Given the description of an element on the screen output the (x, y) to click on. 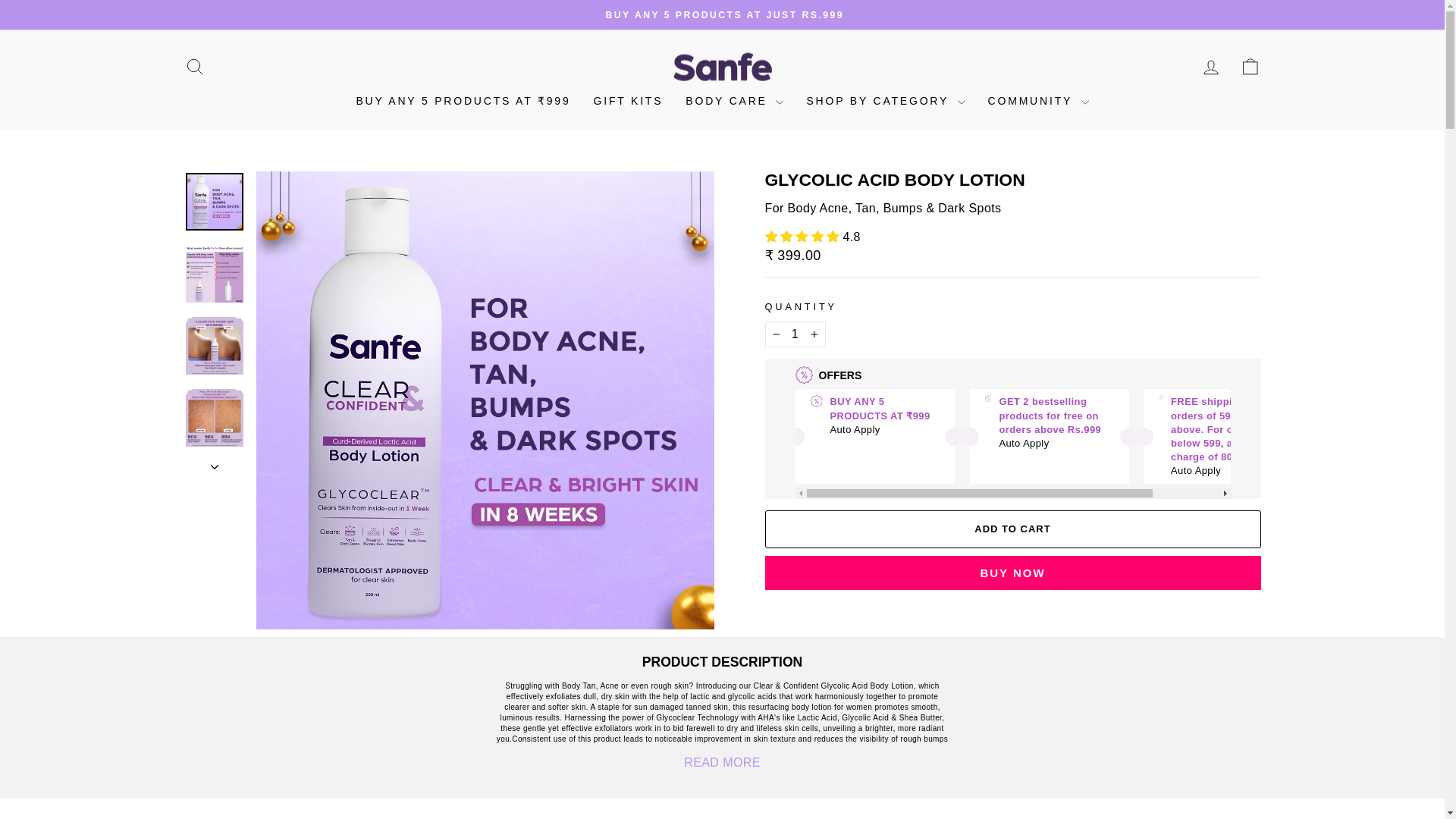
ICON-BAG-MINIMAL (1249, 66)
ICON-SEARCH (194, 66)
BUY ANY 5 PRODUCTS AT JUST RS.999 (724, 14)
ACCOUNT (1210, 66)
1 (794, 334)
